Given the description of an element on the screen output the (x, y) to click on. 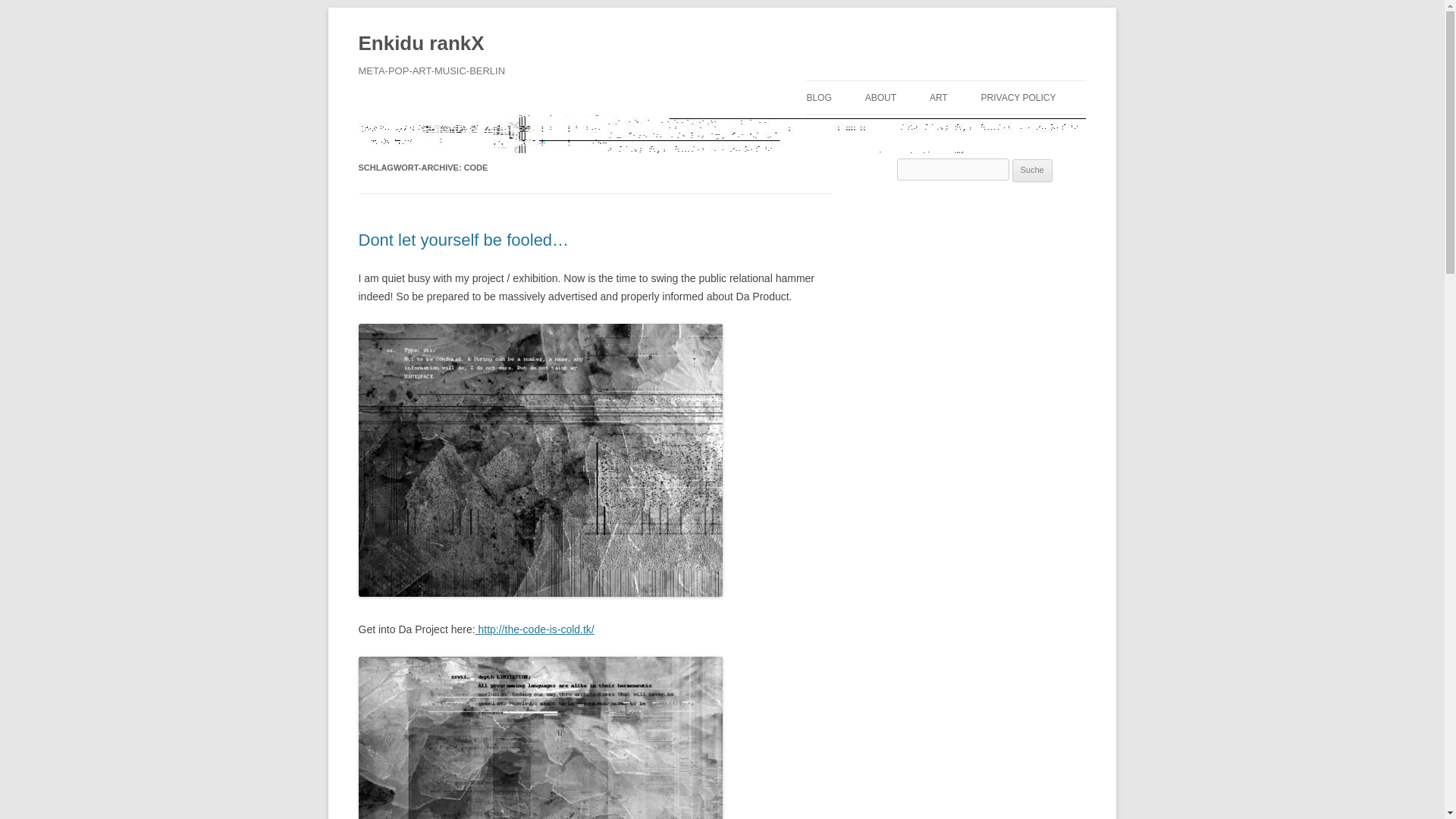
Suche (1031, 169)
DaP (535, 629)
VIDEO ART (1005, 129)
ABOUT ENKIDU RANKX (940, 129)
ABOUT (880, 97)
Enkidu rankX (420, 43)
PRIVACY POLICY (1019, 97)
